Given the description of an element on the screen output the (x, y) to click on. 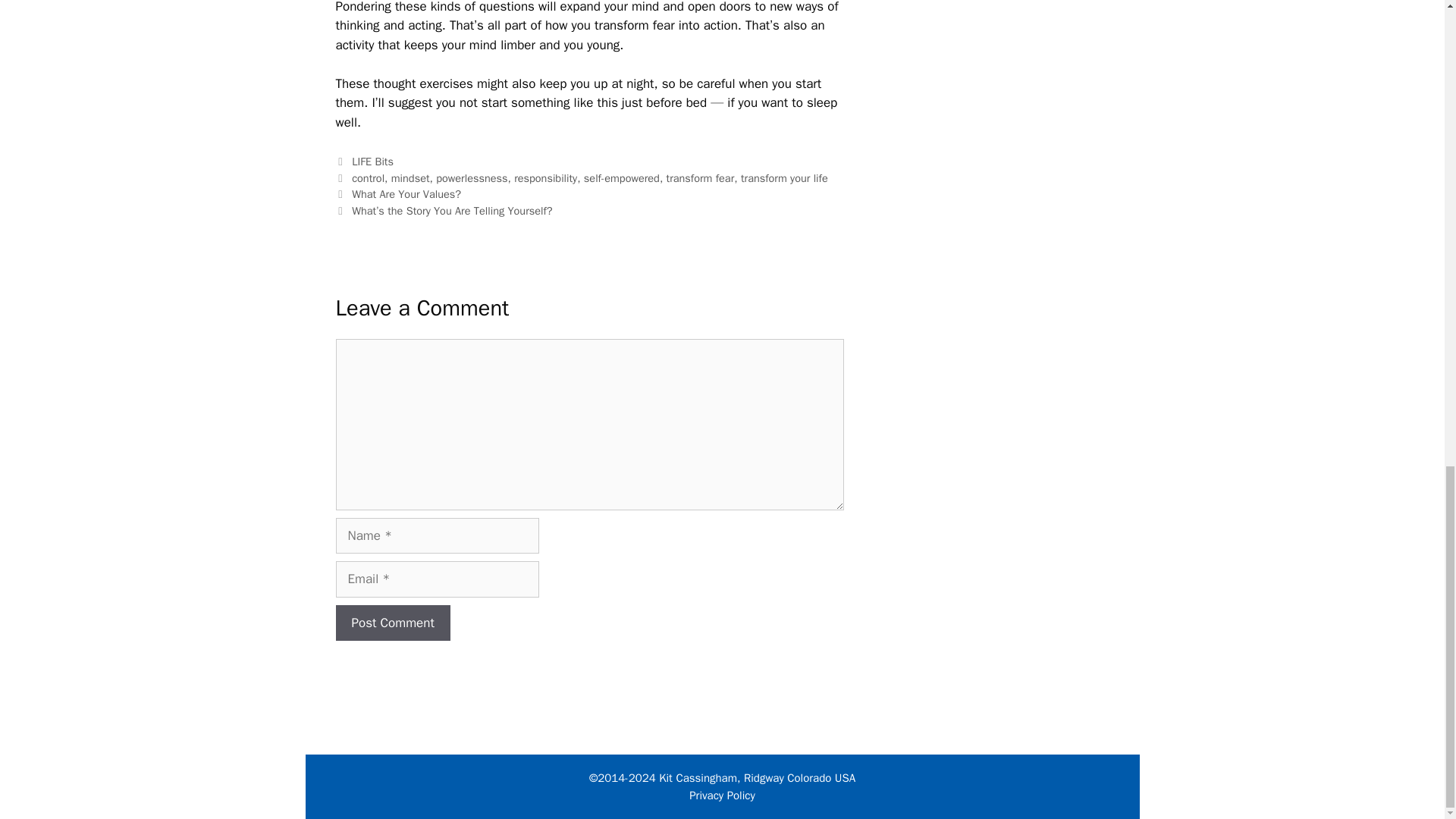
control (368, 178)
responsibility (544, 178)
transform your life (784, 178)
What Are Your Values? (406, 193)
powerlessness (470, 178)
Post Comment (391, 623)
self-empowered (621, 178)
Post Comment (391, 623)
Privacy Policy (721, 795)
mindset (410, 178)
